Given the description of an element on the screen output the (x, y) to click on. 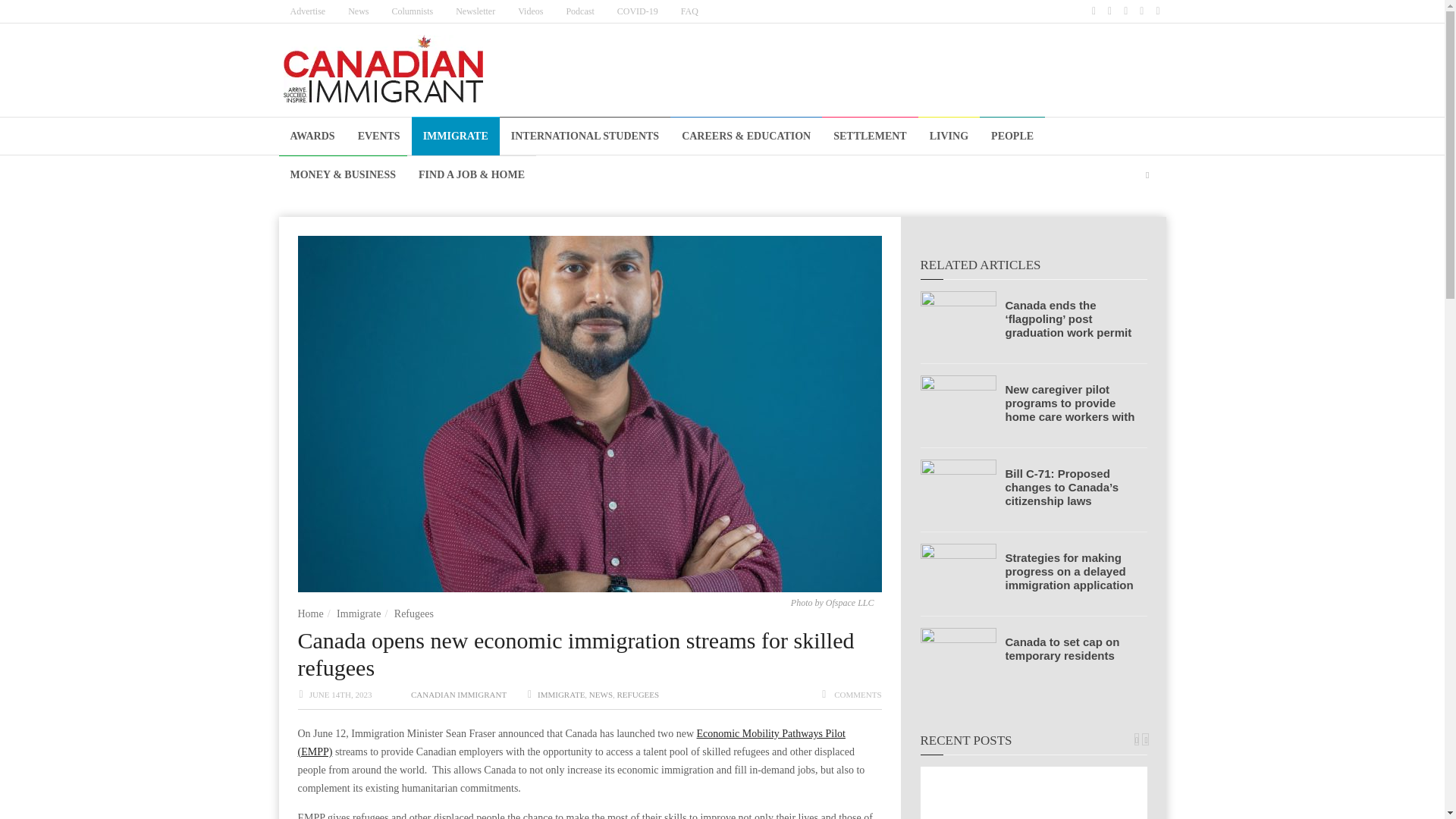
View all posts in Immigrate (561, 694)
View all posts in News (600, 694)
Refugees (413, 613)
Immigrate (358, 613)
View all posts in Refugees (638, 694)
